Given the description of an element on the screen output the (x, y) to click on. 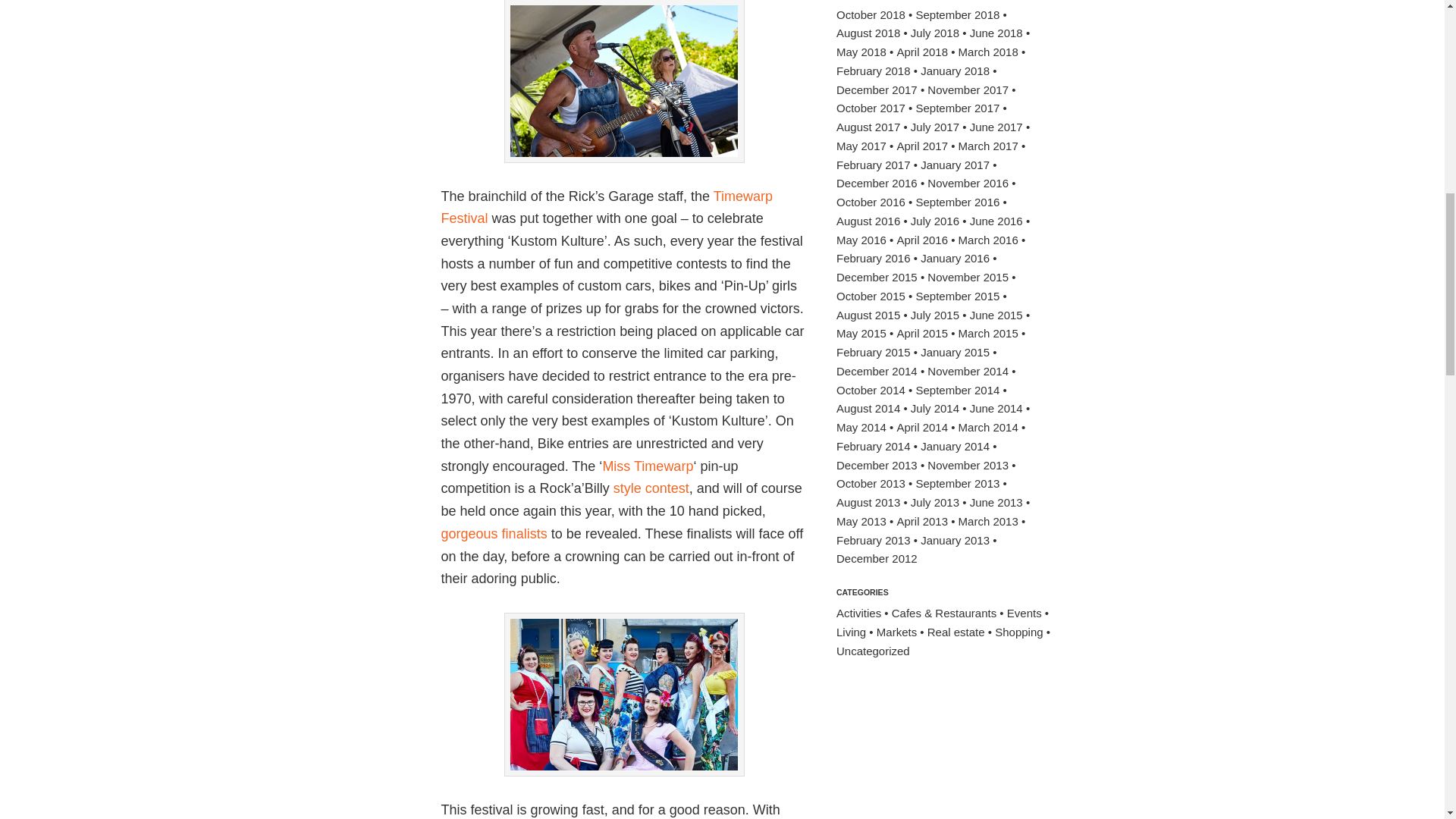
gorgeous finalists (494, 533)
Miss Timewarp (647, 466)
Timewarp Festival (607, 207)
style contest (650, 488)
